Given the description of an element on the screen output the (x, y) to click on. 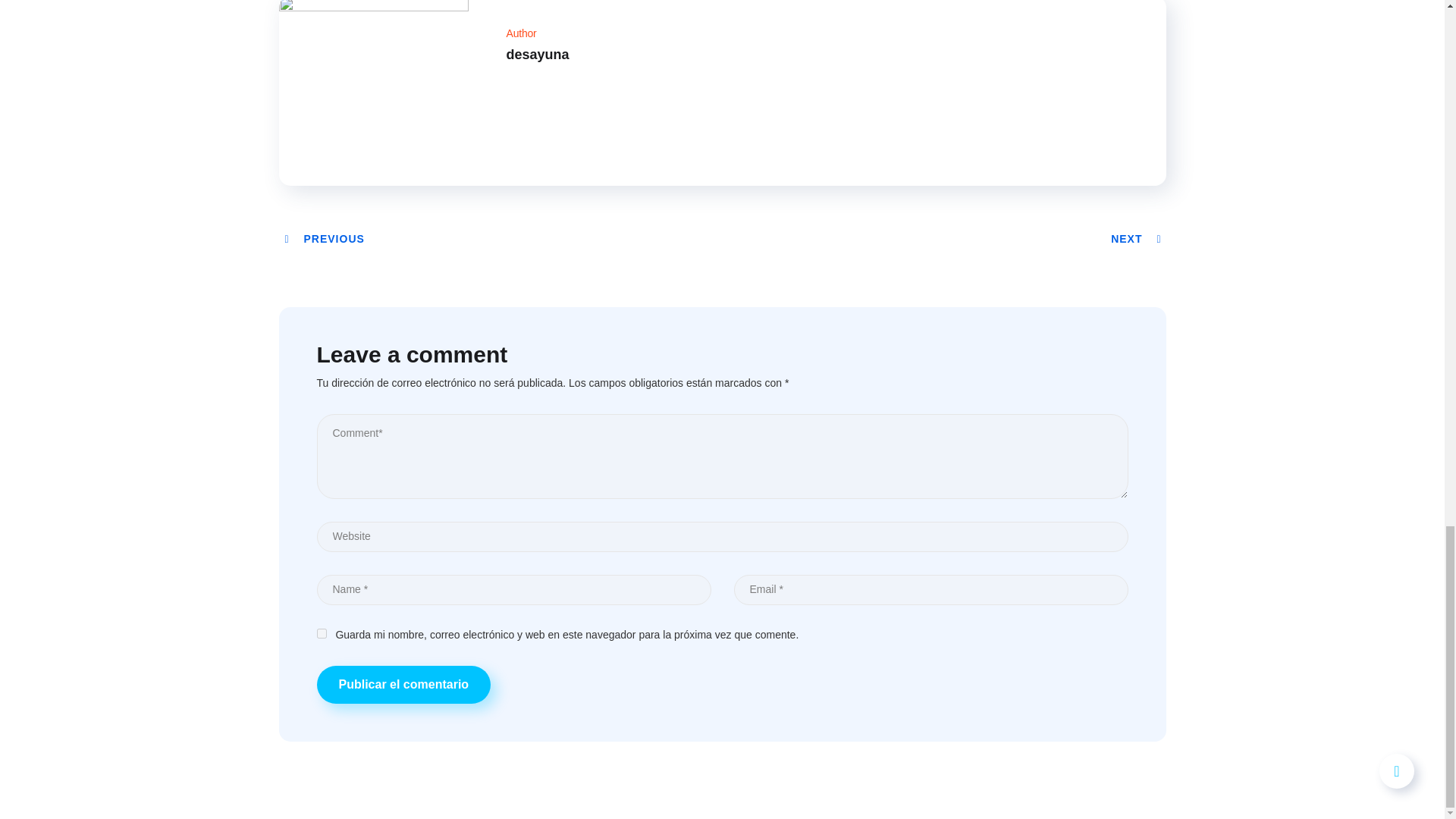
PREVIOUS (323, 238)
yes (321, 633)
Publicar el comentario (404, 684)
NEXT (1138, 238)
Publicar el comentario (404, 684)
